Given the description of an element on the screen output the (x, y) to click on. 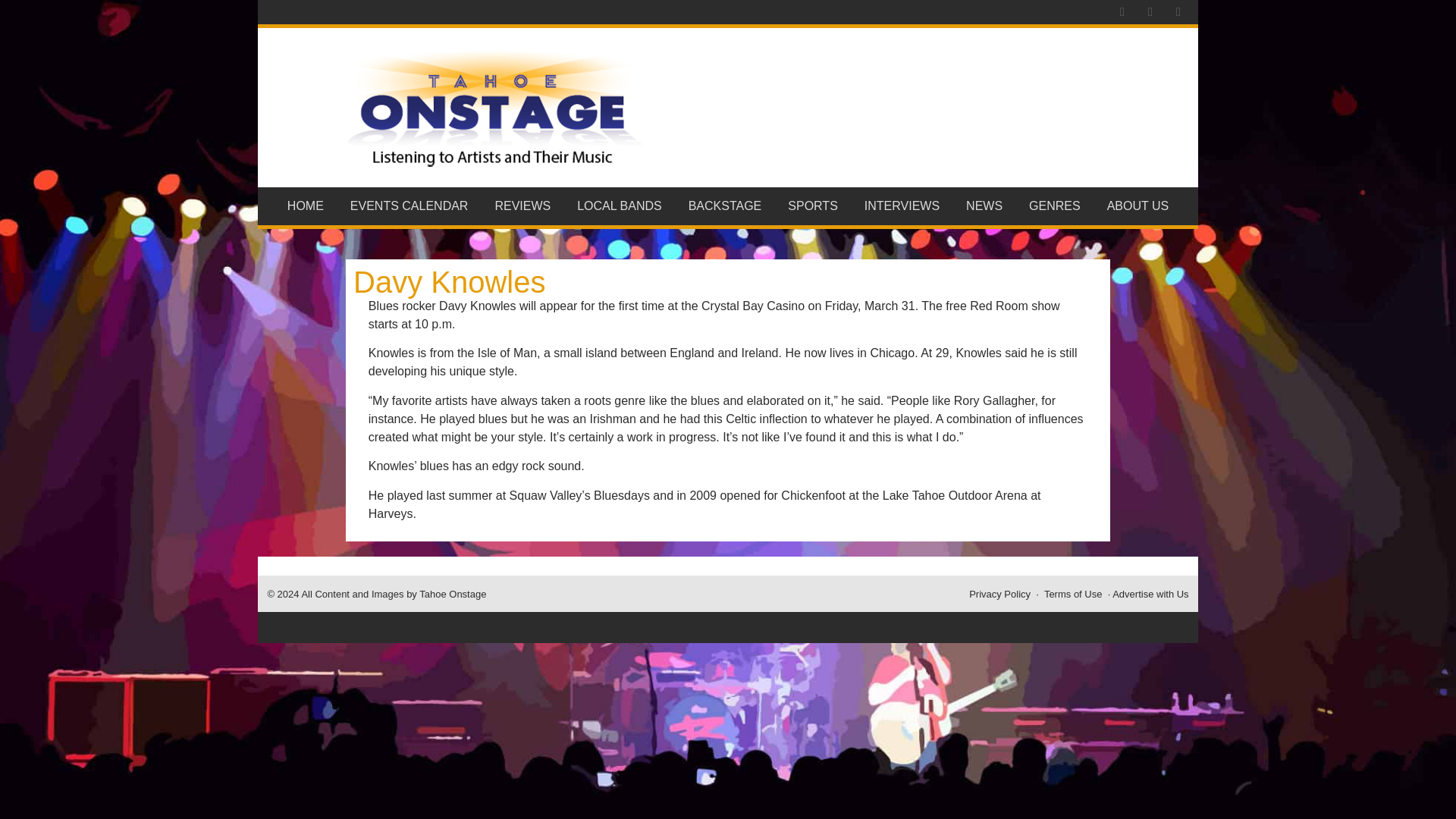
LOCAL BANDS (619, 206)
ABOUT US (1137, 206)
GENRES (1055, 206)
SPORTS (812, 206)
BACKSTAGE (724, 206)
INTERVIEWS (901, 206)
NEWS (984, 206)
REVIEWS (522, 206)
EVENTS CALENDAR (408, 206)
HOME (304, 206)
